Given the description of an element on the screen output the (x, y) to click on. 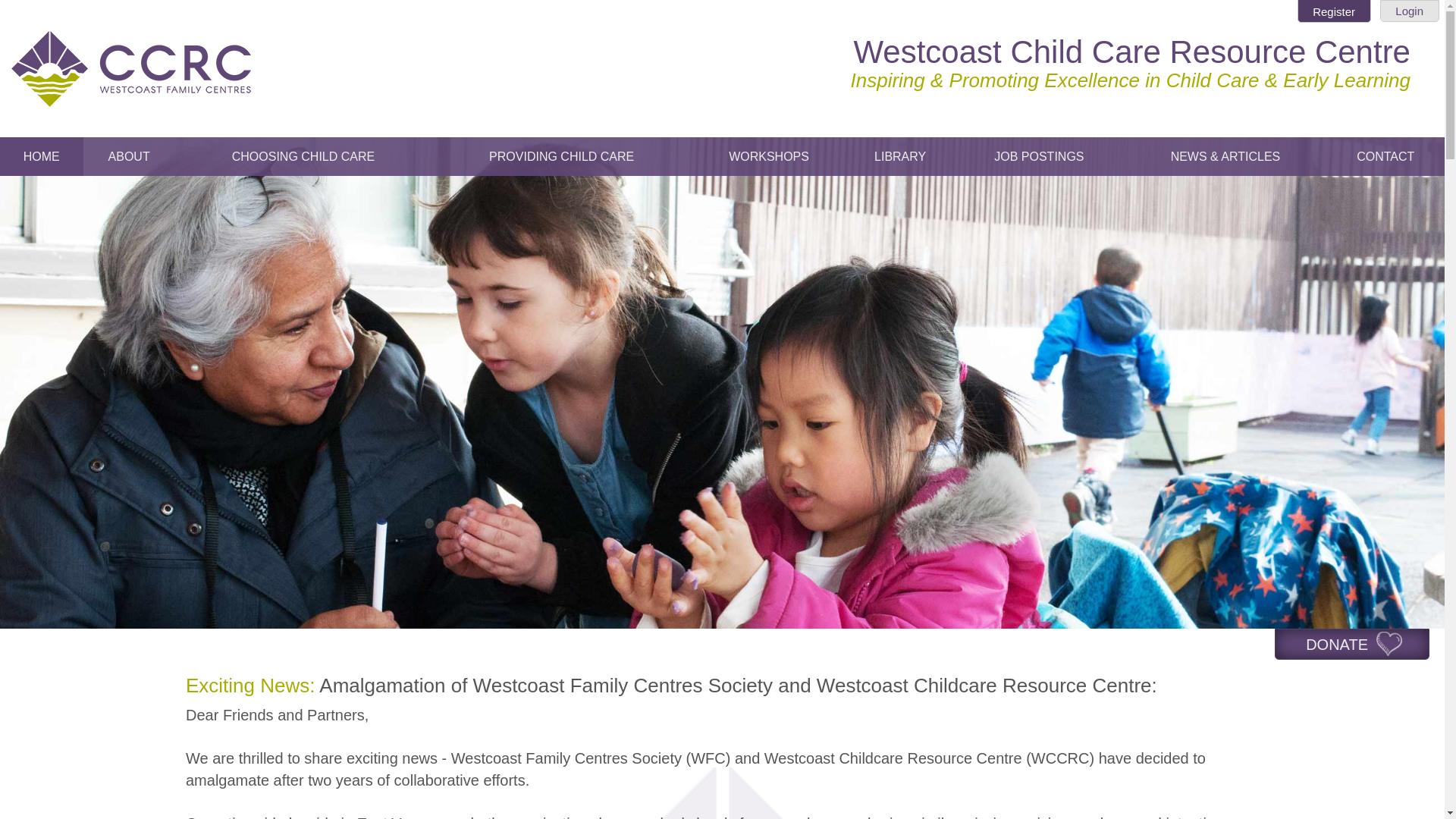
ABOUT (128, 156)
PROVIDING CHILD CARE (560, 156)
Login (1409, 11)
JOB POSTINGS (1038, 156)
DONATE (1352, 644)
WORKSHOPS (768, 156)
LIBRARY (899, 156)
CHOOSING CHILD CARE (303, 156)
HOME (41, 156)
Register (1334, 11)
